Given the description of an element on the screen output the (x, y) to click on. 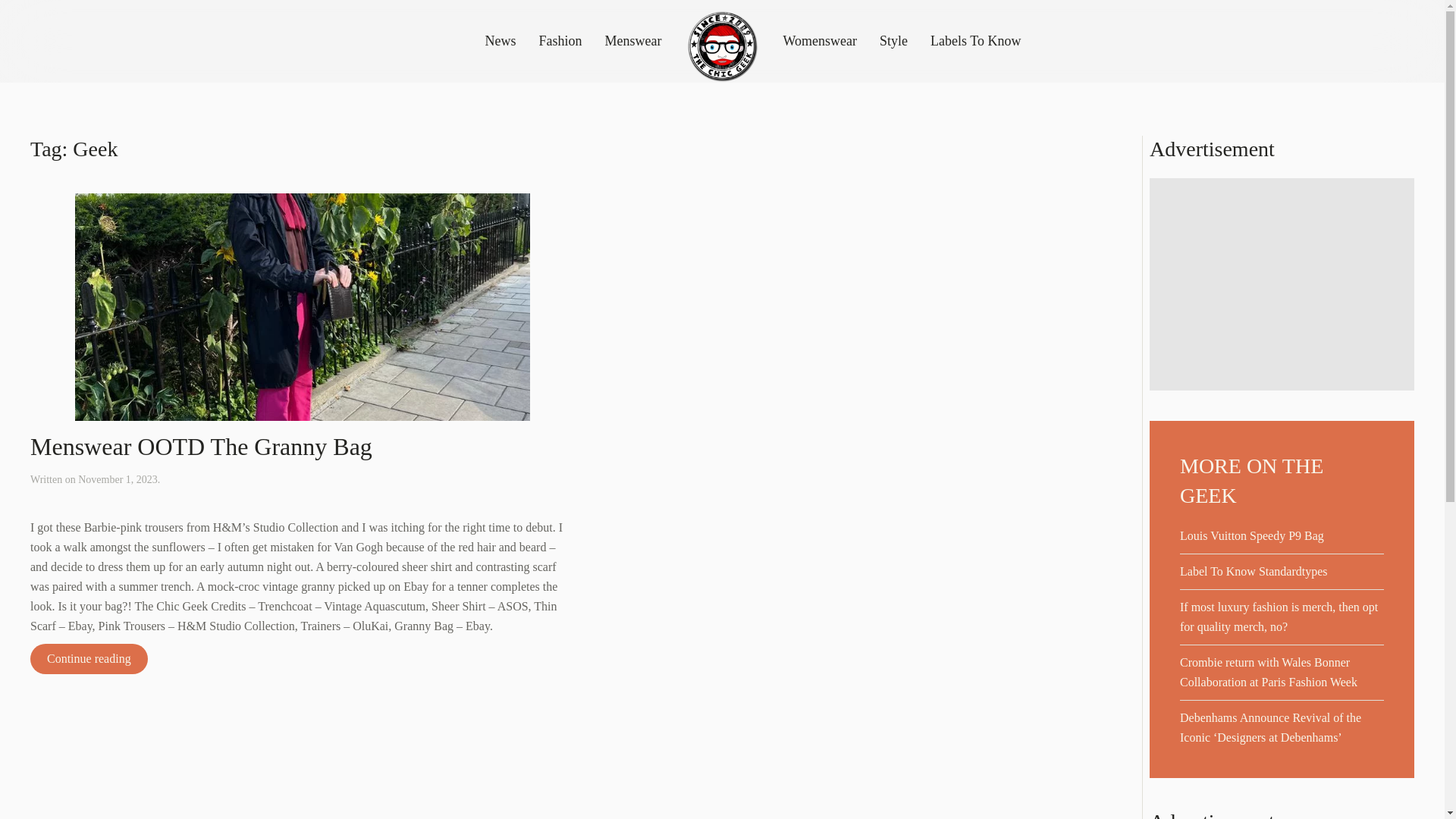
Louis Vuitton Speedy P9 Bag (1251, 535)
Womenswear (820, 41)
Menswear OOTD The Granny Bag (201, 446)
Labels To Know (975, 41)
Label To Know Standardtypes (1253, 571)
Advertisement (1281, 284)
Menswear (633, 41)
Continue reading (89, 658)
